Given the description of an element on the screen output the (x, y) to click on. 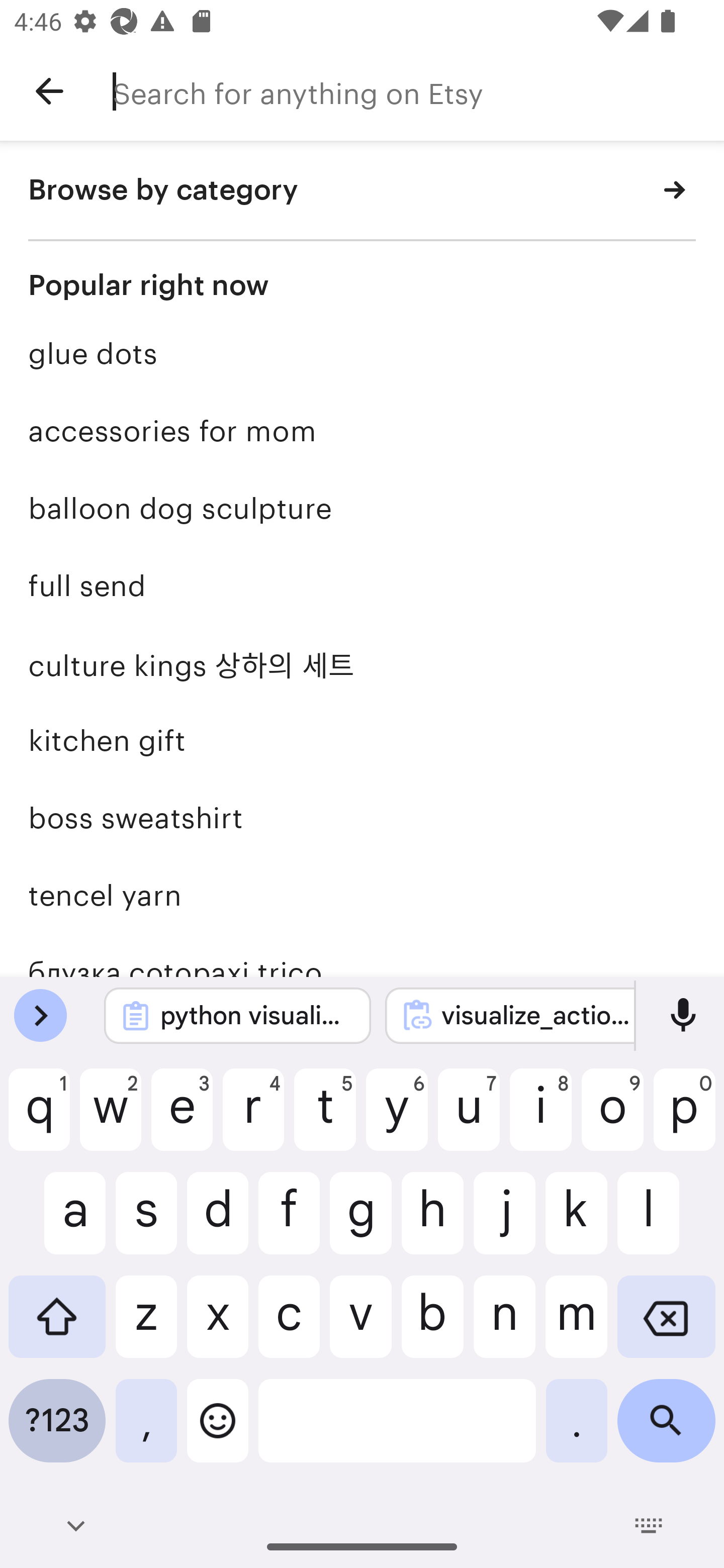
Navigate up (49, 91)
Search for anything on Etsy (418, 91)
Browse by category (362, 191)
glue dots (362, 353)
accessories for mom (362, 431)
balloon dog sculpture (362, 508)
full send (362, 585)
culture kings 상하의 세트 (362, 663)
kitchen gift (362, 740)
boss sweatshirt (362, 817)
tencel yarn (362, 895)
